Given the description of an element on the screen output the (x, y) to click on. 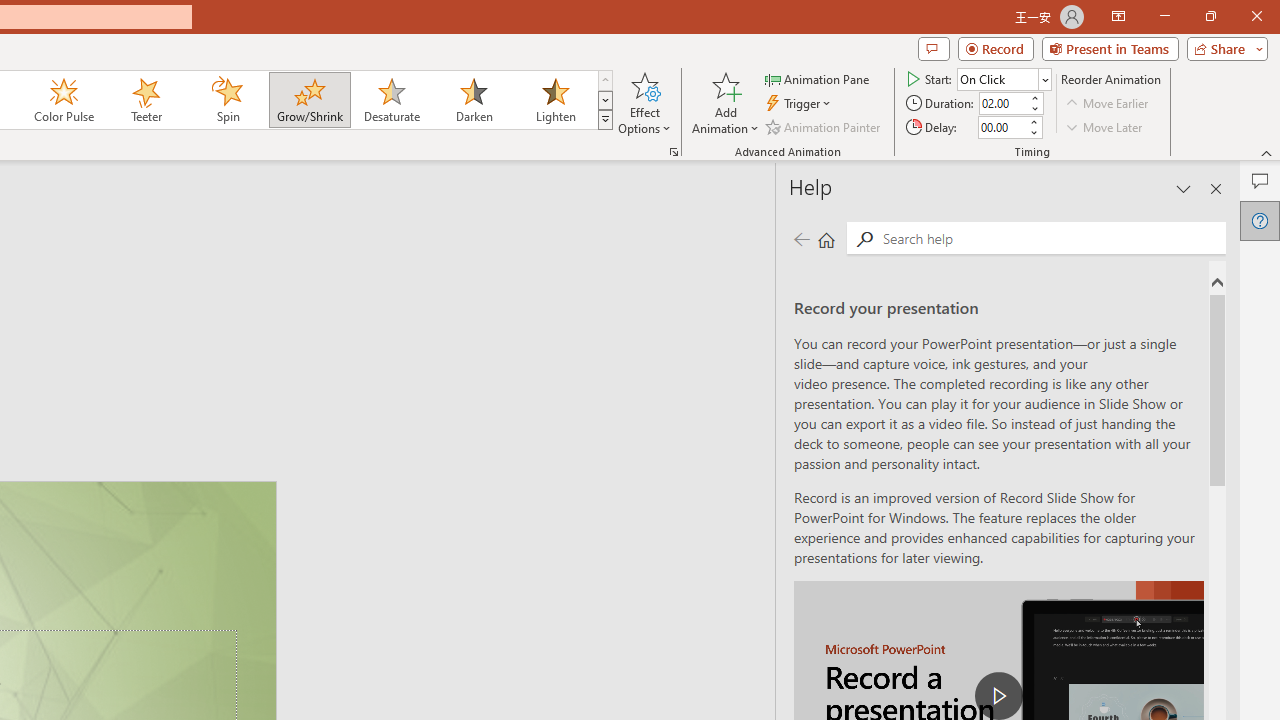
More Options... (673, 151)
Desaturate (391, 100)
Grow/Shrink (309, 100)
Effect Options (644, 102)
Add Animation (725, 102)
Spin (227, 100)
Teeter (145, 100)
